Given the description of an element on the screen output the (x, y) to click on. 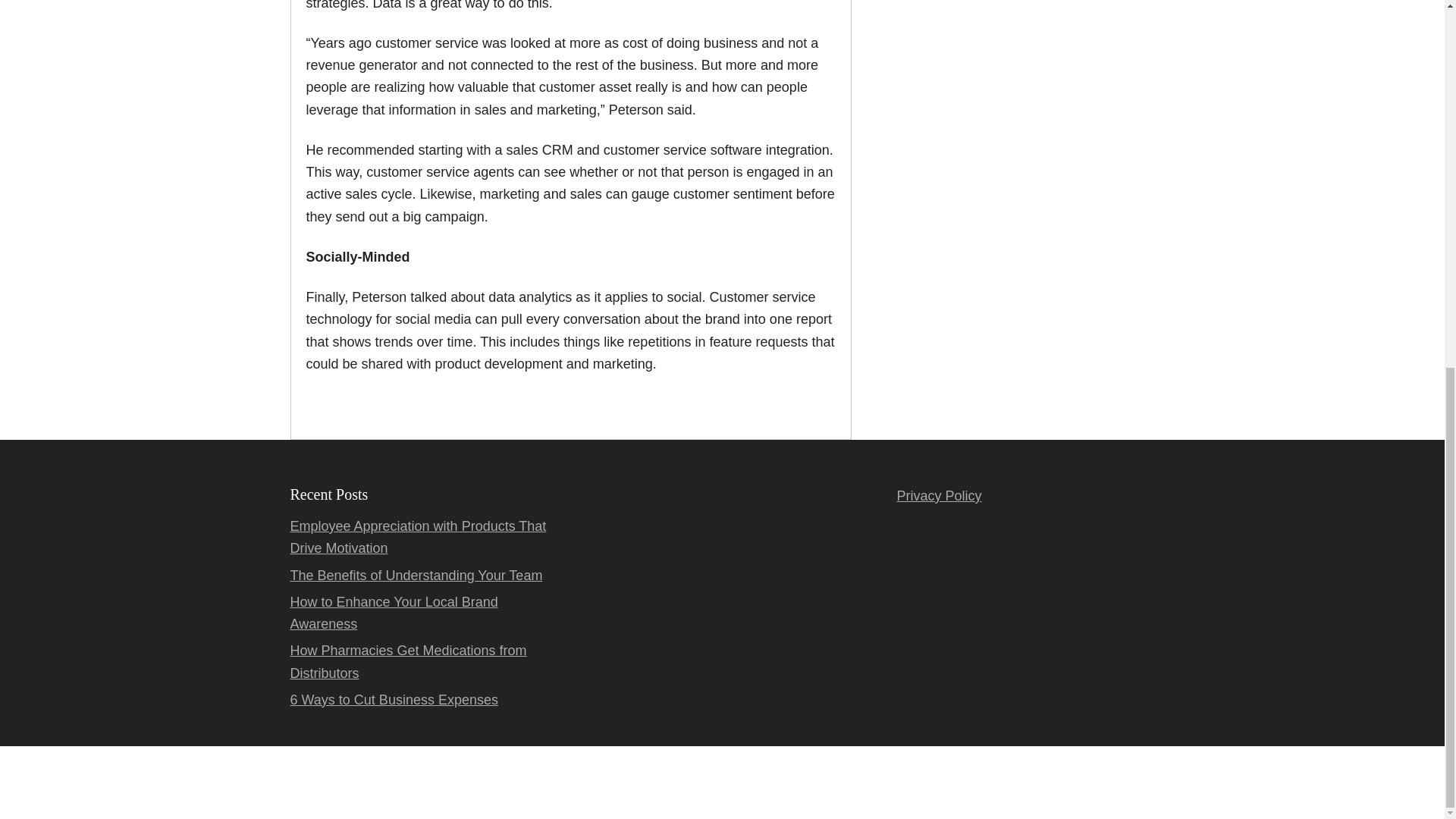
Privacy Policy (938, 495)
Employee Appreciation with Products That Drive Motivation (417, 537)
How Pharmacies Get Medications from Distributors (407, 661)
The Benefits of Understanding Your Team (415, 575)
How to Enhance Your Local Brand Awareness (393, 612)
6 Ways to Cut Business Expenses (393, 699)
